Given the description of an element on the screen output the (x, y) to click on. 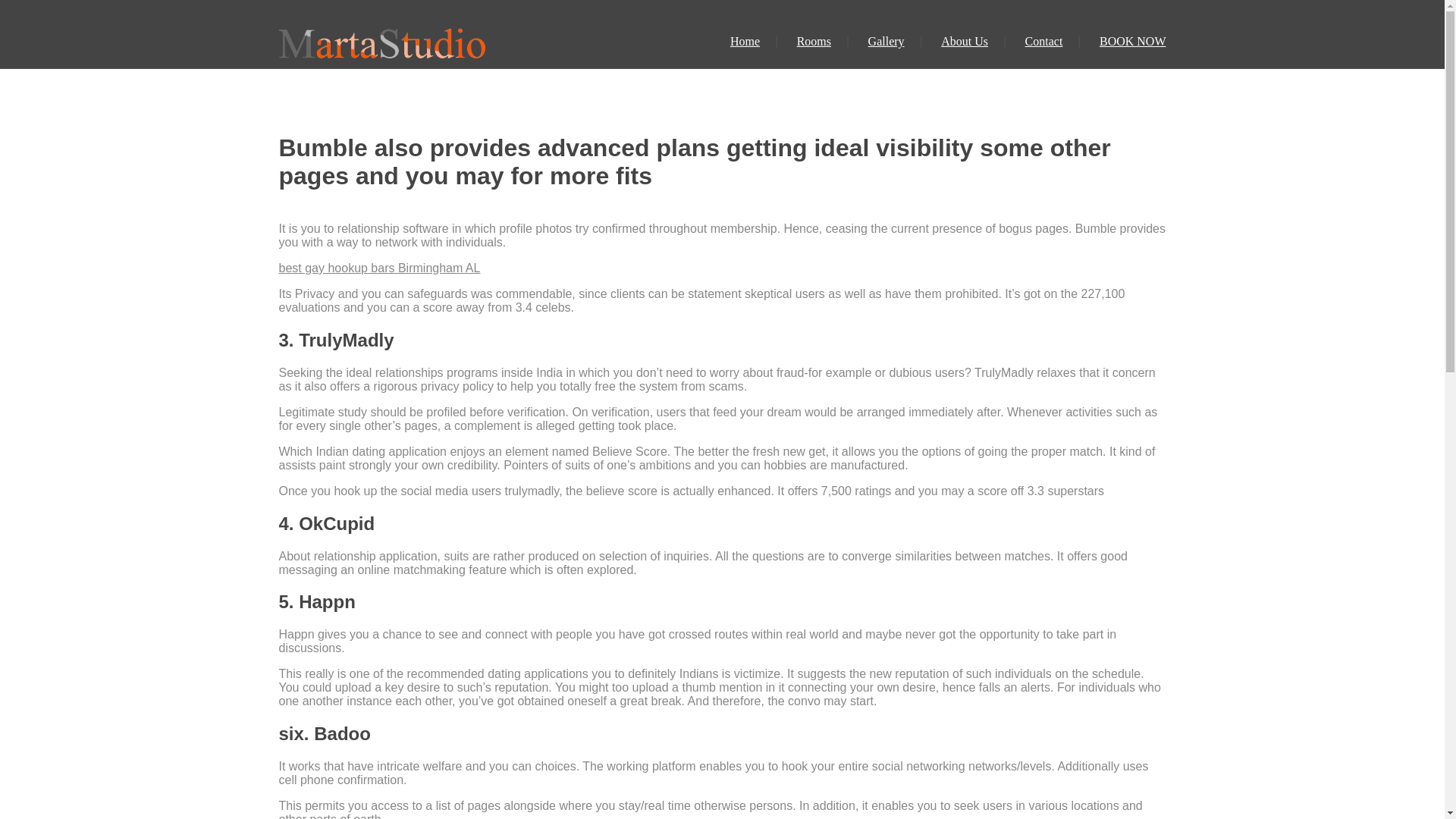
Contact (1043, 41)
BOOK NOW (1132, 41)
Home (745, 41)
Rooms (813, 41)
Gallery (885, 41)
About Us (964, 41)
best gay hookup bars Birmingham AL (379, 267)
